Given the description of an element on the screen output the (x, y) to click on. 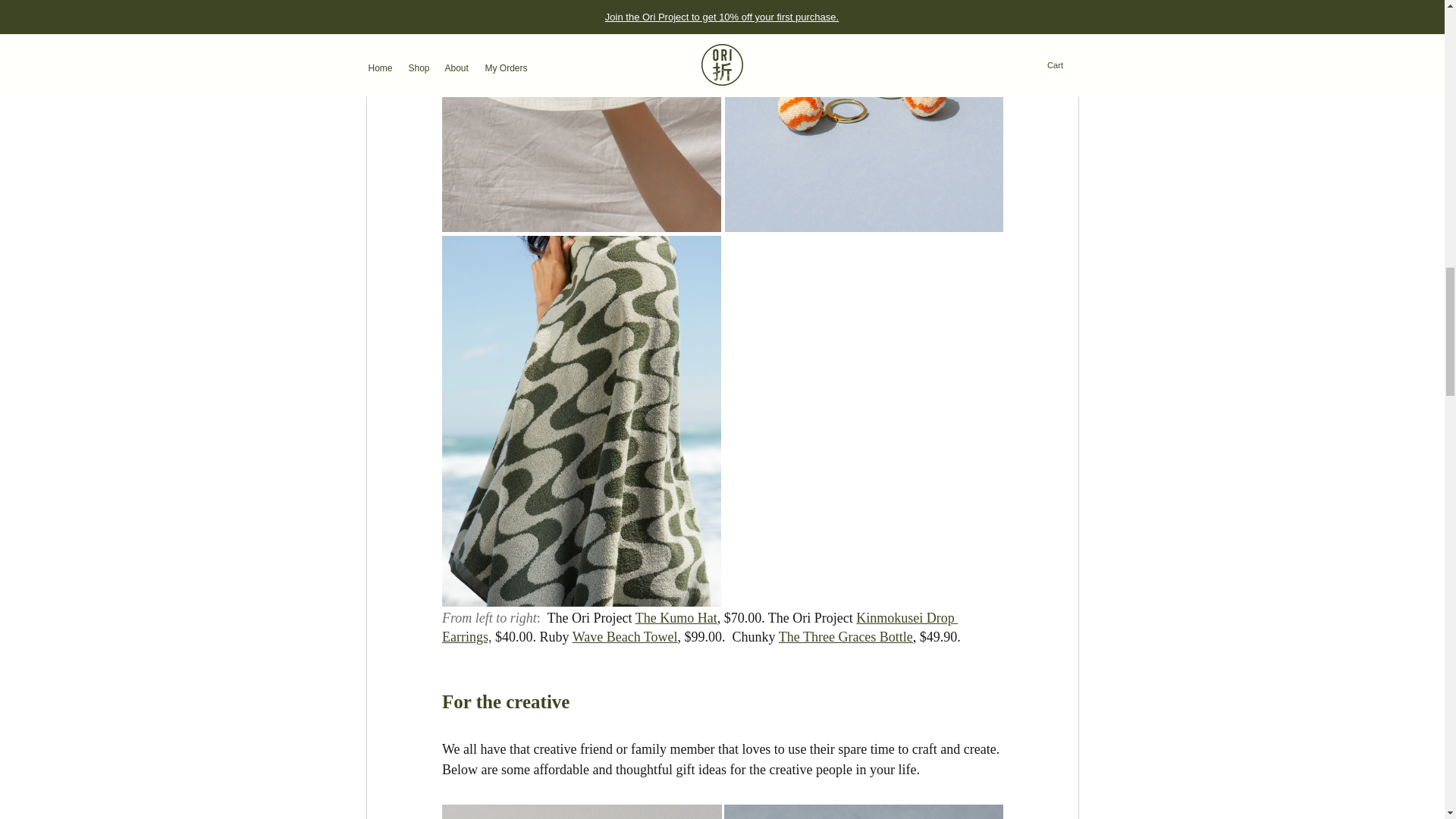
The Three Graces Bottle (844, 636)
Wave Beach Towel (624, 636)
Kinmokusei Drop Earrings, (698, 627)
The Kumo Hat (675, 617)
